Given the description of an element on the screen output the (x, y) to click on. 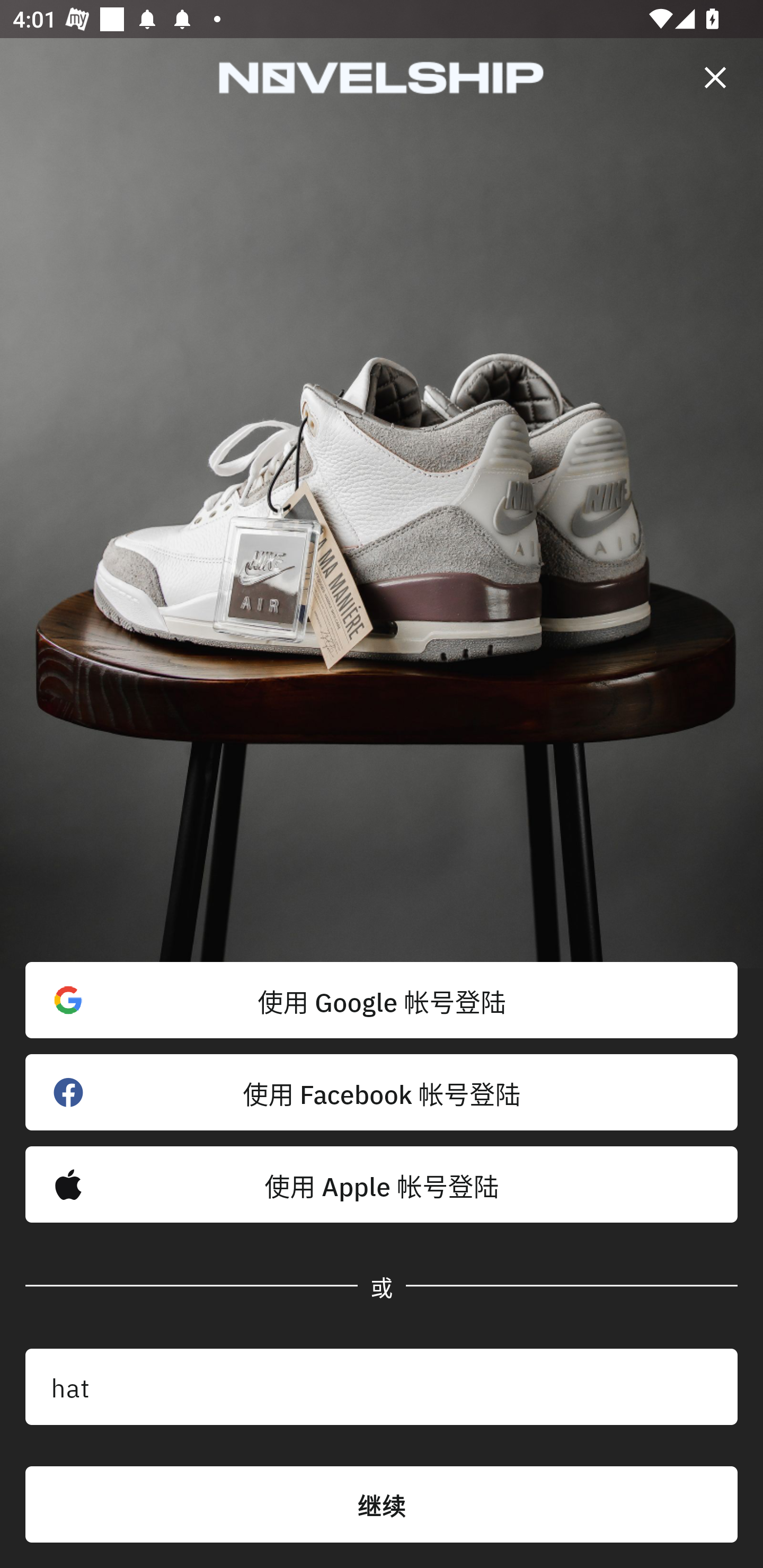
使用 Google 帐号登陆 (381, 1000)
使用 Facebook 帐号登陆 󰈌 (381, 1091)
 使用 Apple 帐号登陆 (381, 1184)
hat (381, 1386)
继续 (381, 1504)
